Given the description of an element on the screen output the (x, y) to click on. 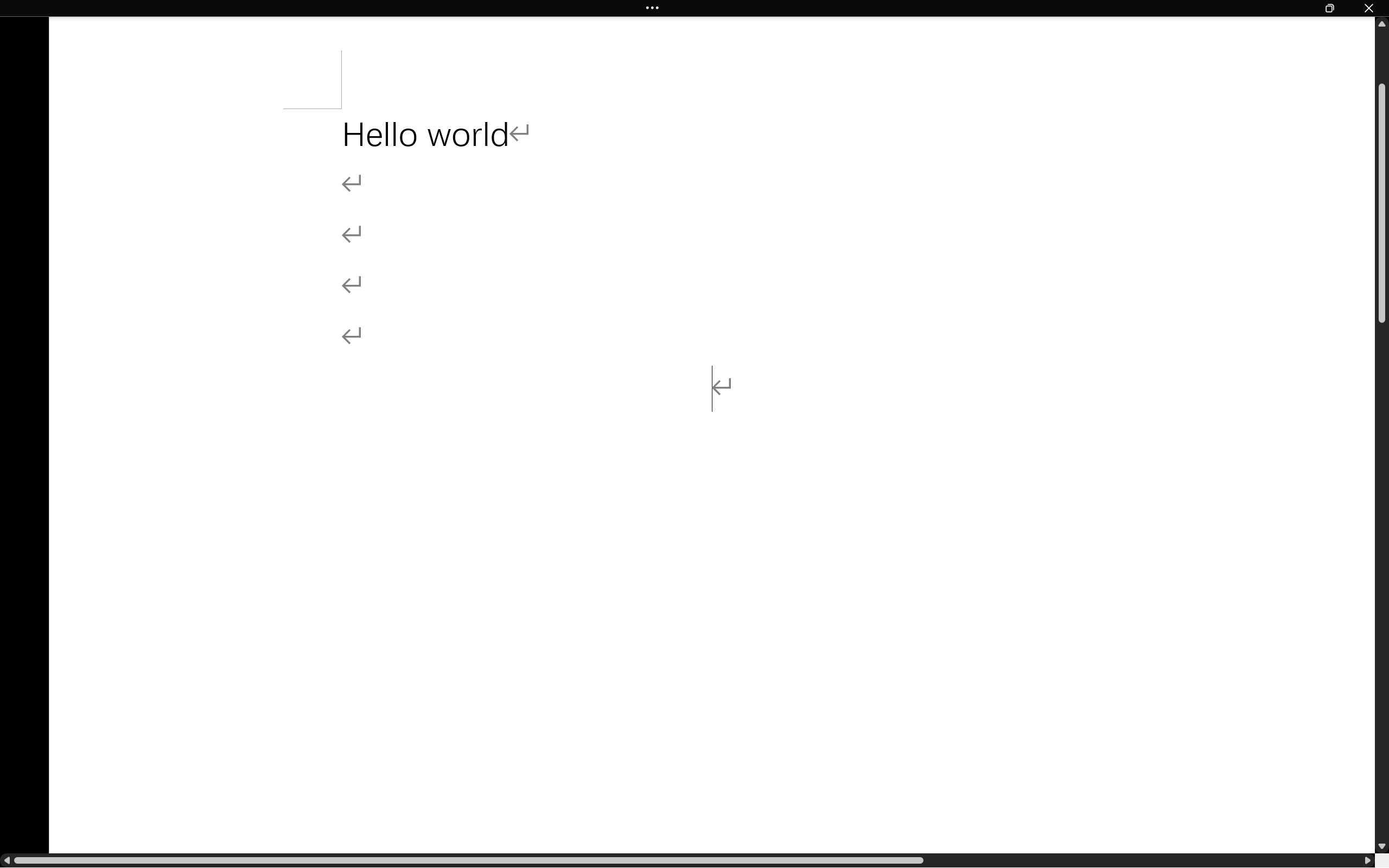
Class: NetUIAnchor (694, 8)
Close (1369, 8)
Class: MsoCommandBar (694, 8)
Class: NetUIImage (652, 7)
Restore Down (1330, 8)
Page 1 content (711, 481)
Show the Ribbon (655, 8)
Class: NetUIScrollBar (687, 860)
